Given the description of an element on the screen output the (x, y) to click on. 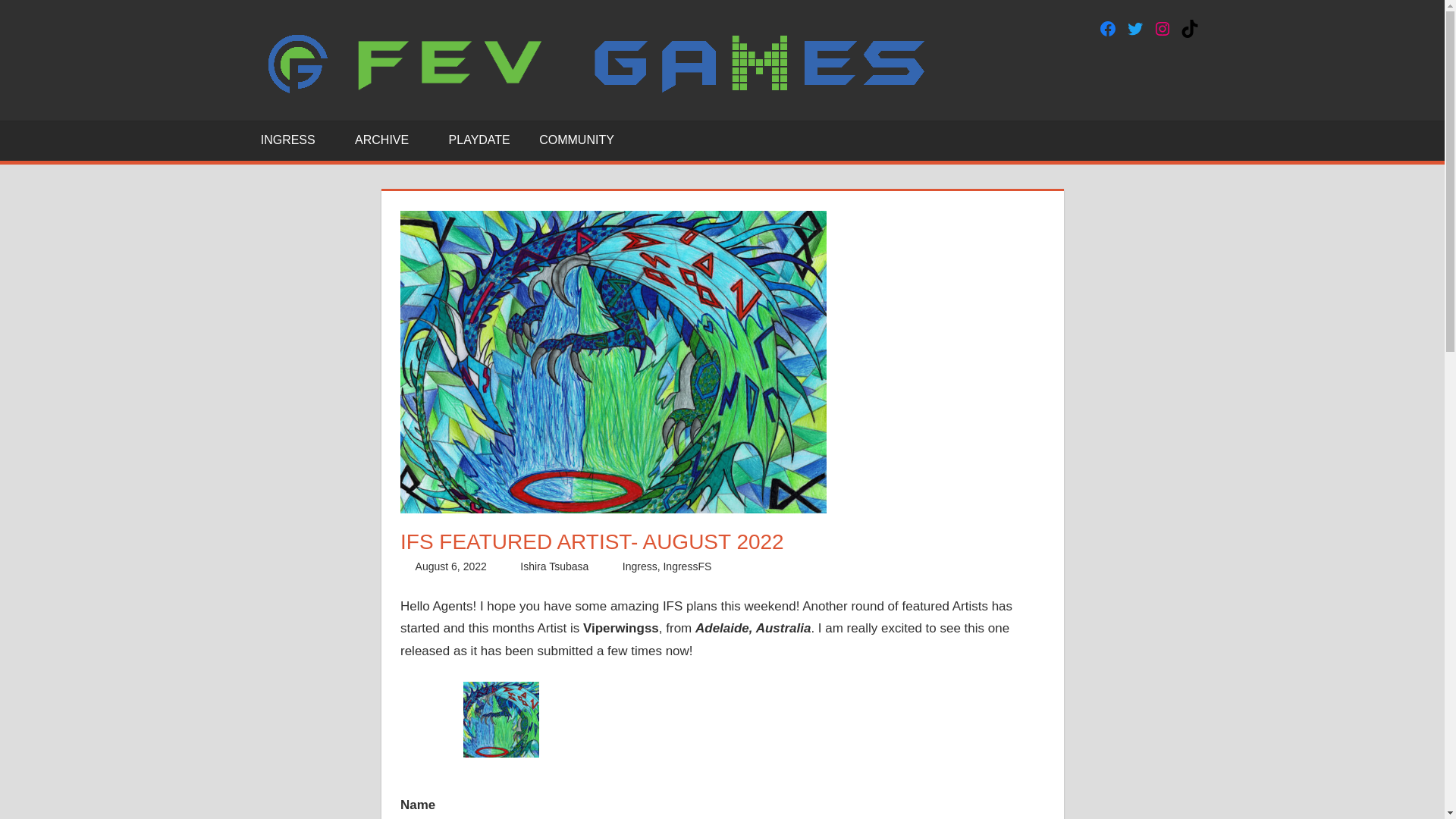
Instagram (1161, 28)
TikTok (1188, 28)
Twitter (1133, 28)
View all posts by Ishira Tsubasa (553, 566)
5:29 pm (450, 566)
Facebook (1106, 28)
INGRESS (292, 139)
ARCHIVE (386, 139)
